Given the description of an element on the screen output the (x, y) to click on. 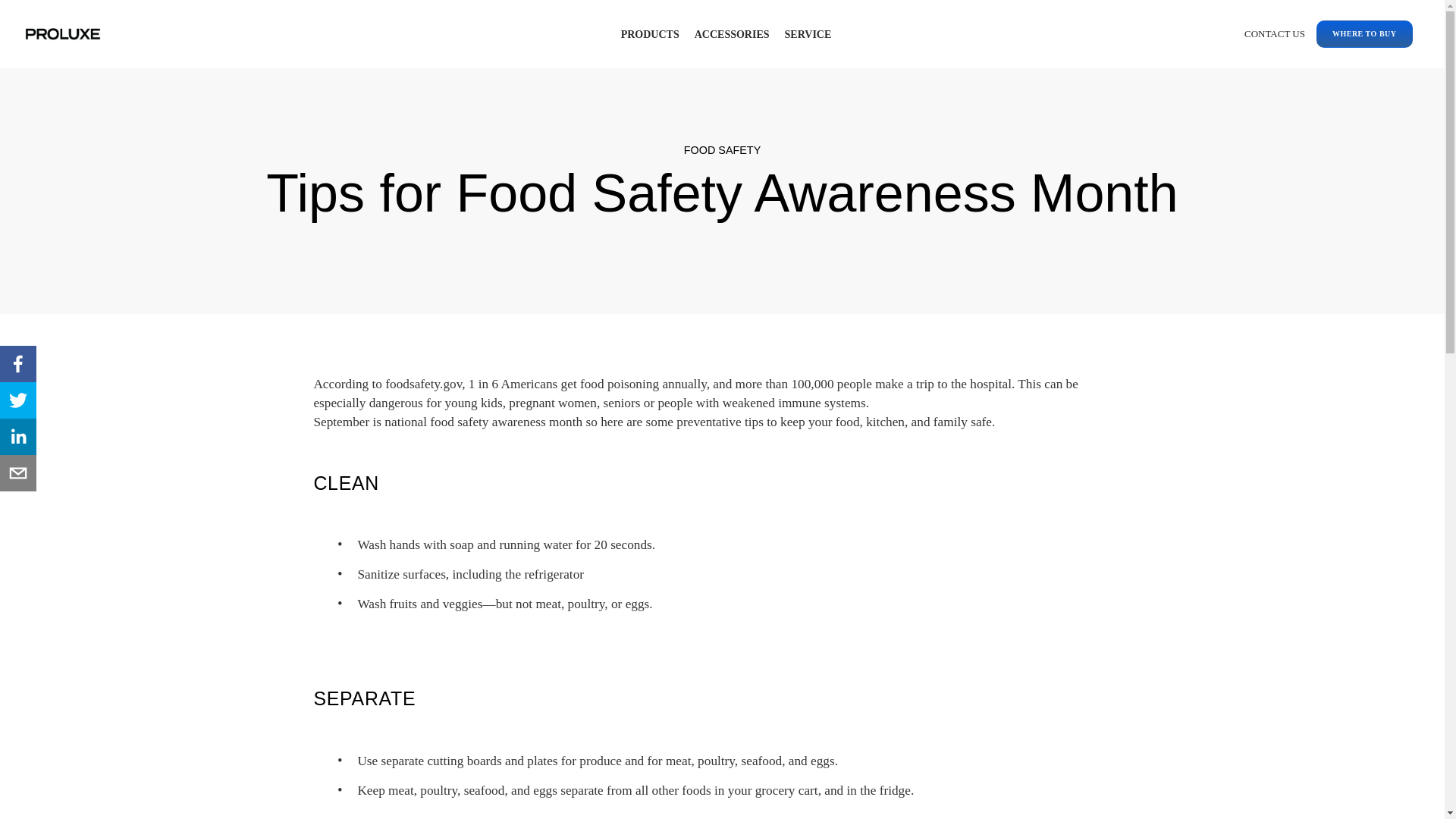
CONTACT US (1274, 34)
WHERE TO BUY (1358, 34)
WHERE TO BUY (1364, 34)
